Given the description of an element on the screen output the (x, y) to click on. 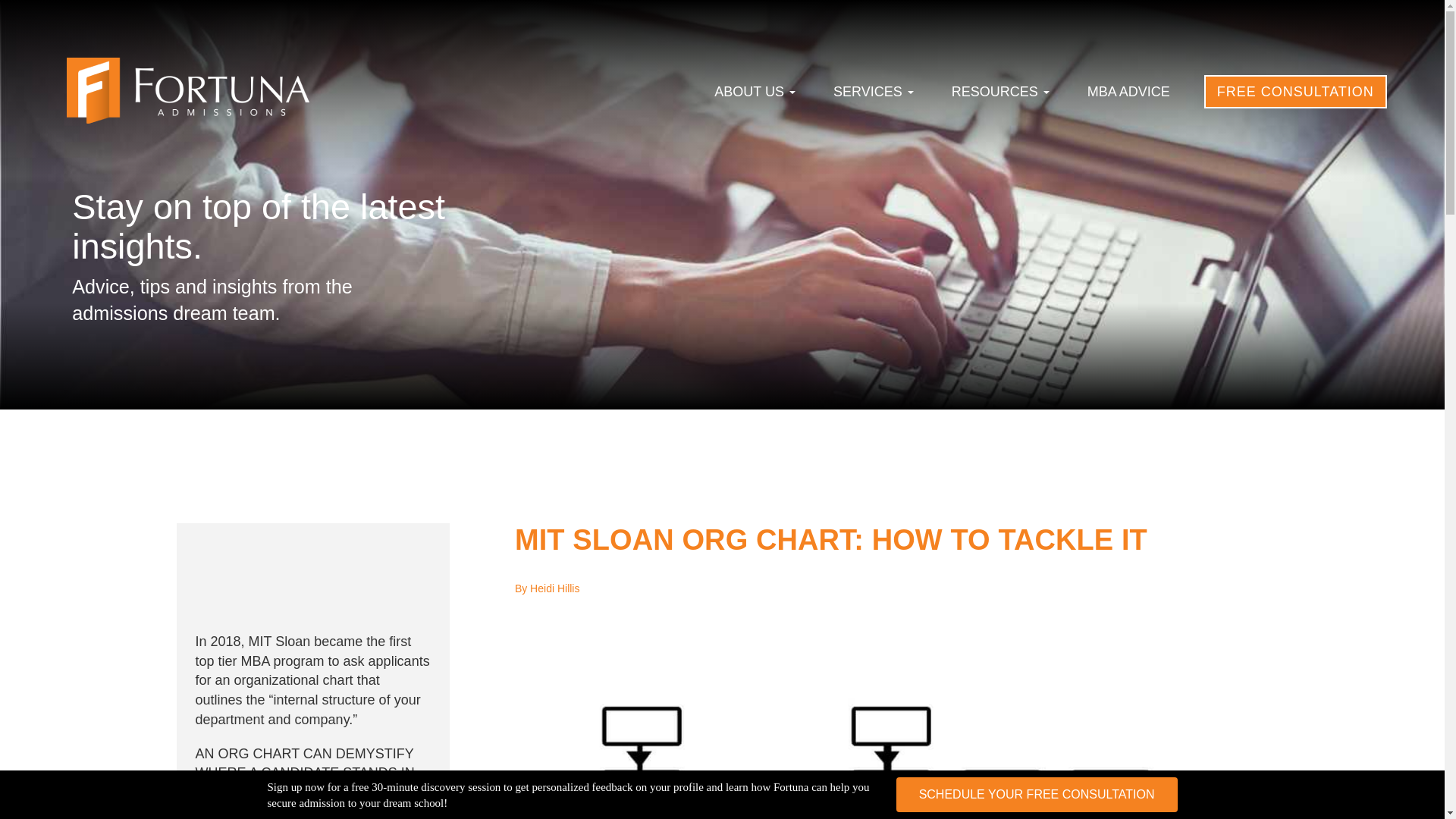
ABOUT US (754, 91)
RESOURCES (1000, 91)
SERVICES (873, 91)
